Given the description of an element on the screen output the (x, y) to click on. 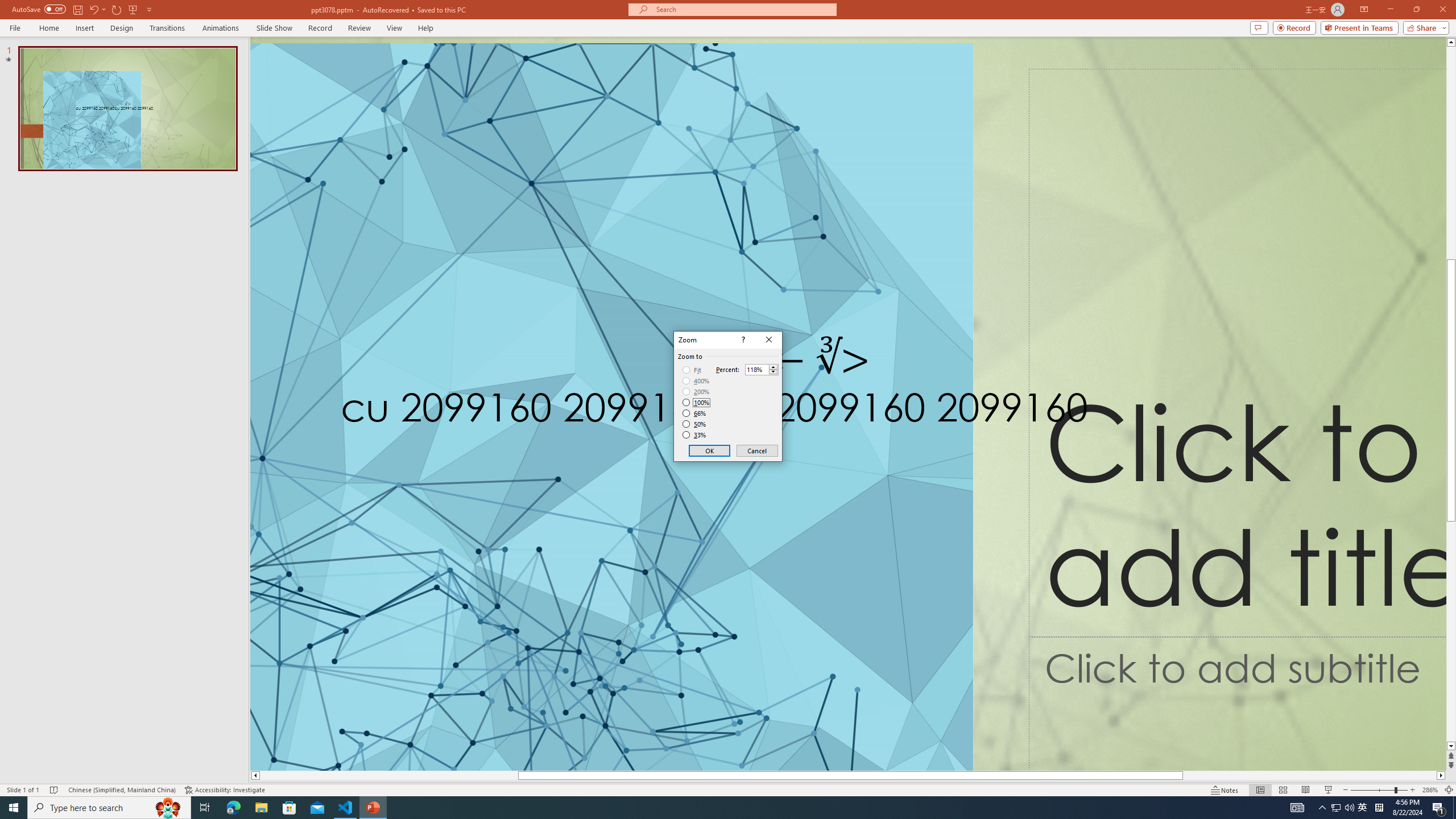
Percent (761, 369)
OK (709, 450)
Context help (742, 339)
